Given the description of an element on the screen output the (x, y) to click on. 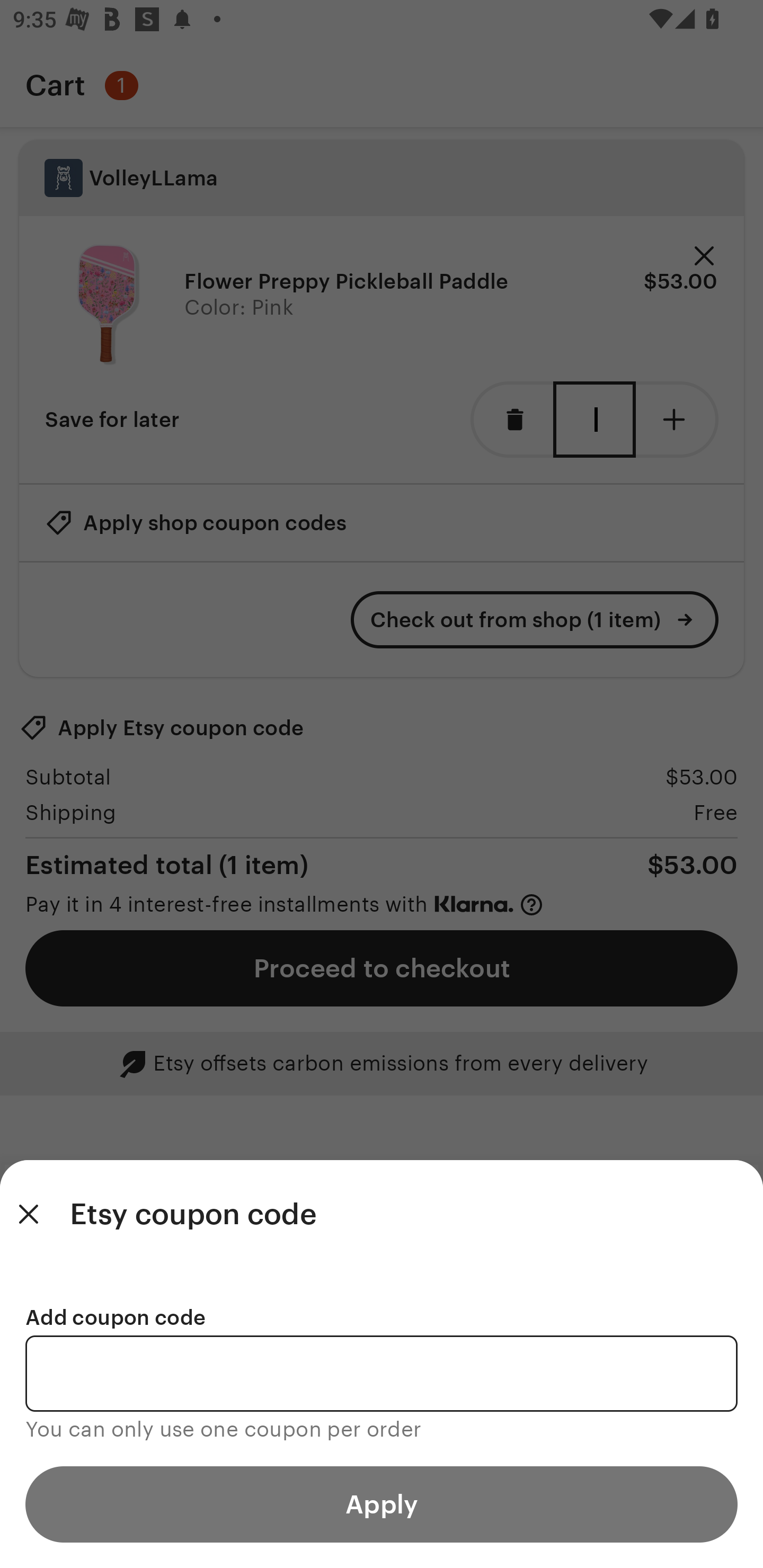
Apply (381, 1504)
